Given the description of an element on the screen output the (x, y) to click on. 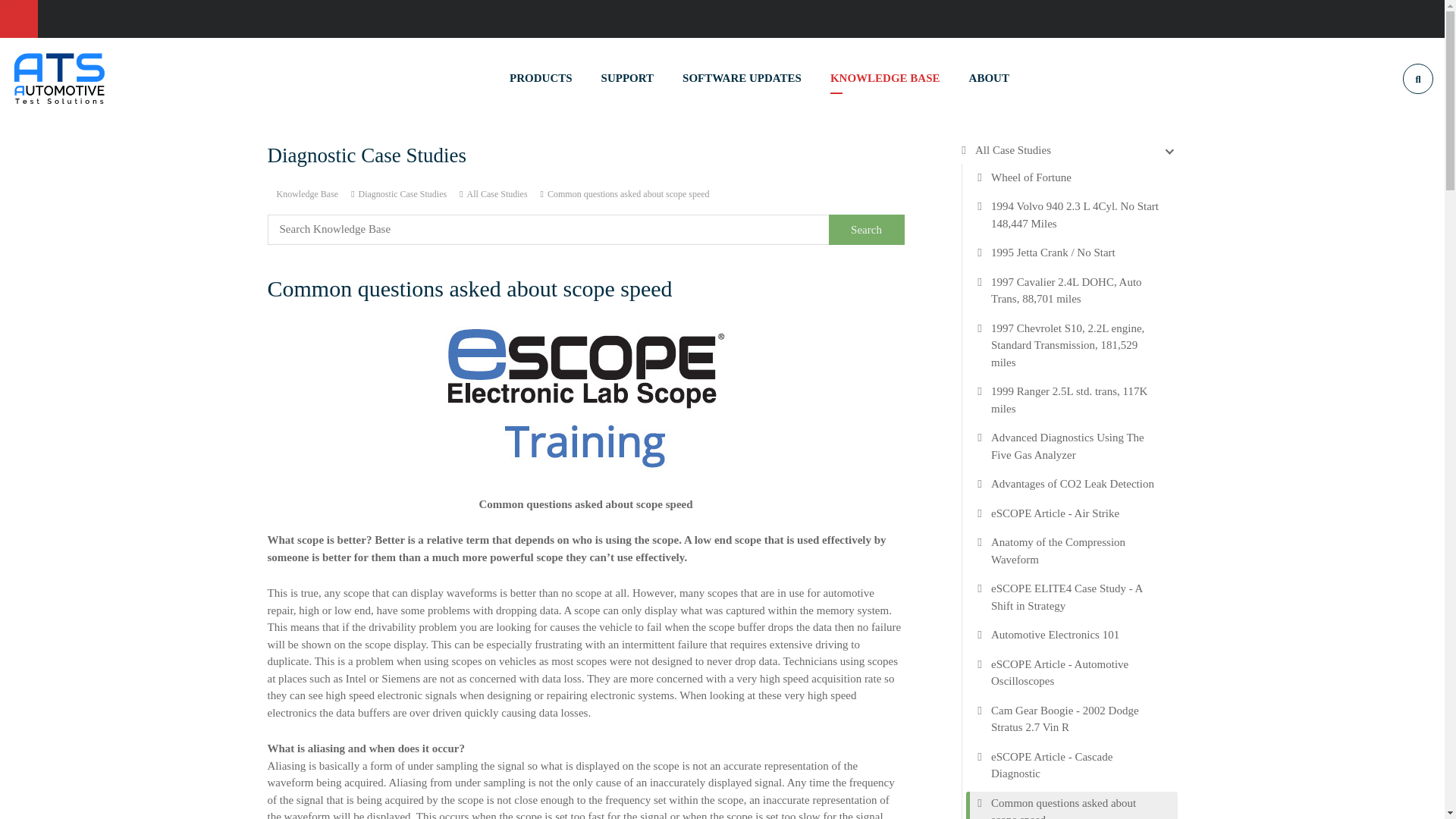
Automotive Electronics 101 (1055, 634)
1997 Cavalier 2.4L DOHC, Auto Trans, 88,701 miles (1077, 289)
Wheel of Fortune (1031, 176)
eSCOPE Article - Cascade Diagnostic (1077, 764)
Cam Gear Boogie - 2002 Dodge Stratus 2.7 Vin R (1077, 718)
1999 Ranger 2.5L std. trans, 117K miles (1077, 399)
Diagnostic Case Studies (402, 193)
KNOWLEDGE BASE (884, 77)
SOFTWARE UPDATES (742, 77)
Advanced Diagnostics Using The Five Gas Analyzer (1077, 446)
eSCOPE ELITE4 Case Study - A Shift in Strategy (1077, 596)
All Case Studies (497, 193)
Common questions asked about scope speed (1077, 806)
eSCOPE Article - Automotive Oscilloscopes (1077, 672)
